Given the description of an element on the screen output the (x, y) to click on. 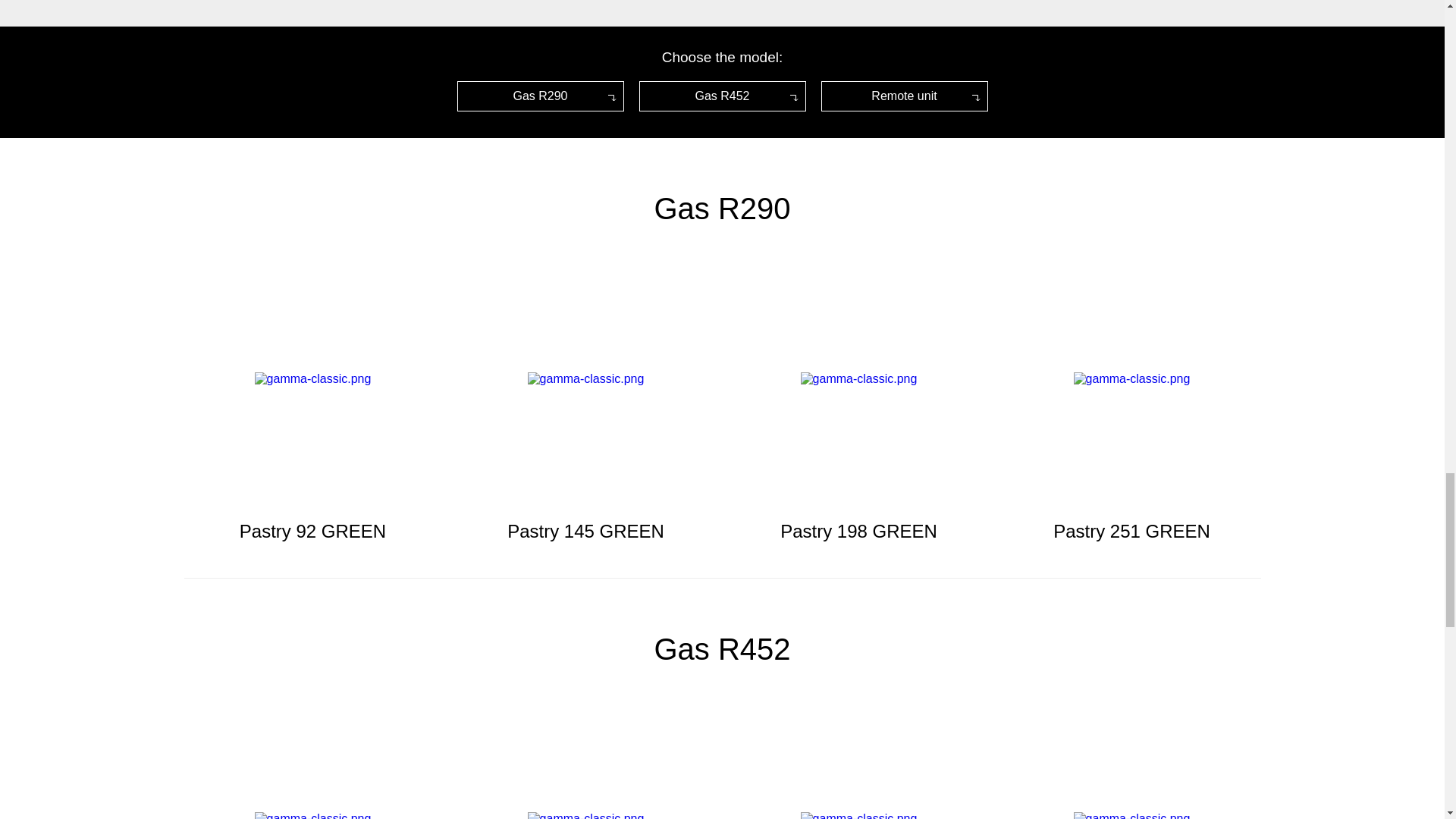
Gas R290 (540, 96)
Gas R452 (722, 96)
Remote unit (904, 96)
